Given the description of an element on the screen output the (x, y) to click on. 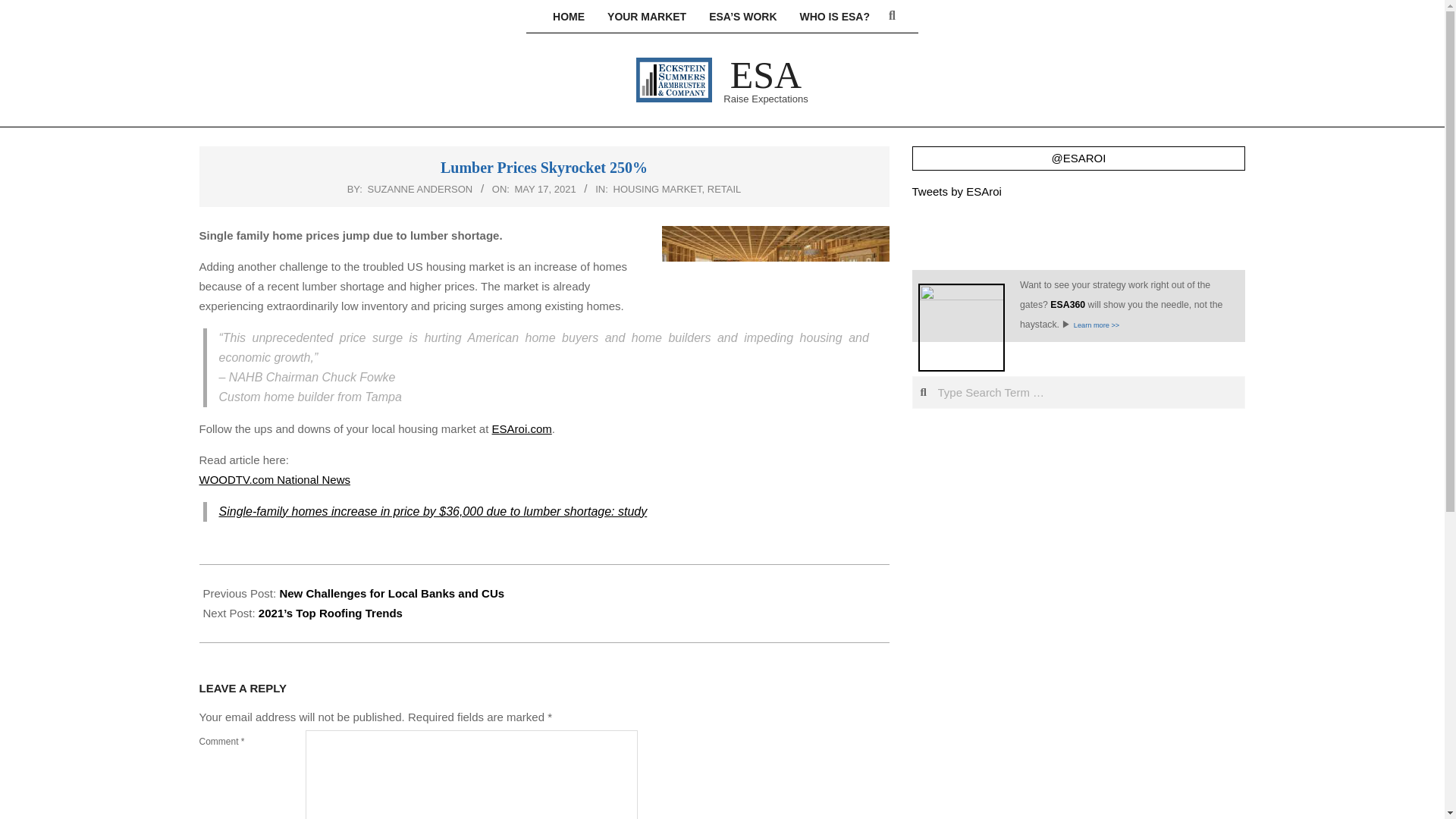
ESA360 DataStudio (1096, 324)
Monday, May 17, 2021, 3:30 pm (545, 188)
YOUR MARKET (646, 16)
RETAIL (724, 188)
WHO IS ESA? (834, 16)
WOODTV.com National News (274, 479)
ESA (766, 75)
ESAroi.com (521, 428)
New Challenges for Local Banks and CUs (391, 593)
Posts by Suzanne Anderson (420, 188)
HOME (568, 16)
Tweets by ESAroi (956, 191)
ESA 360 (1066, 304)
HOUSING MARKET (656, 188)
SUZANNE ANDERSON (420, 188)
